Given the description of an element on the screen output the (x, y) to click on. 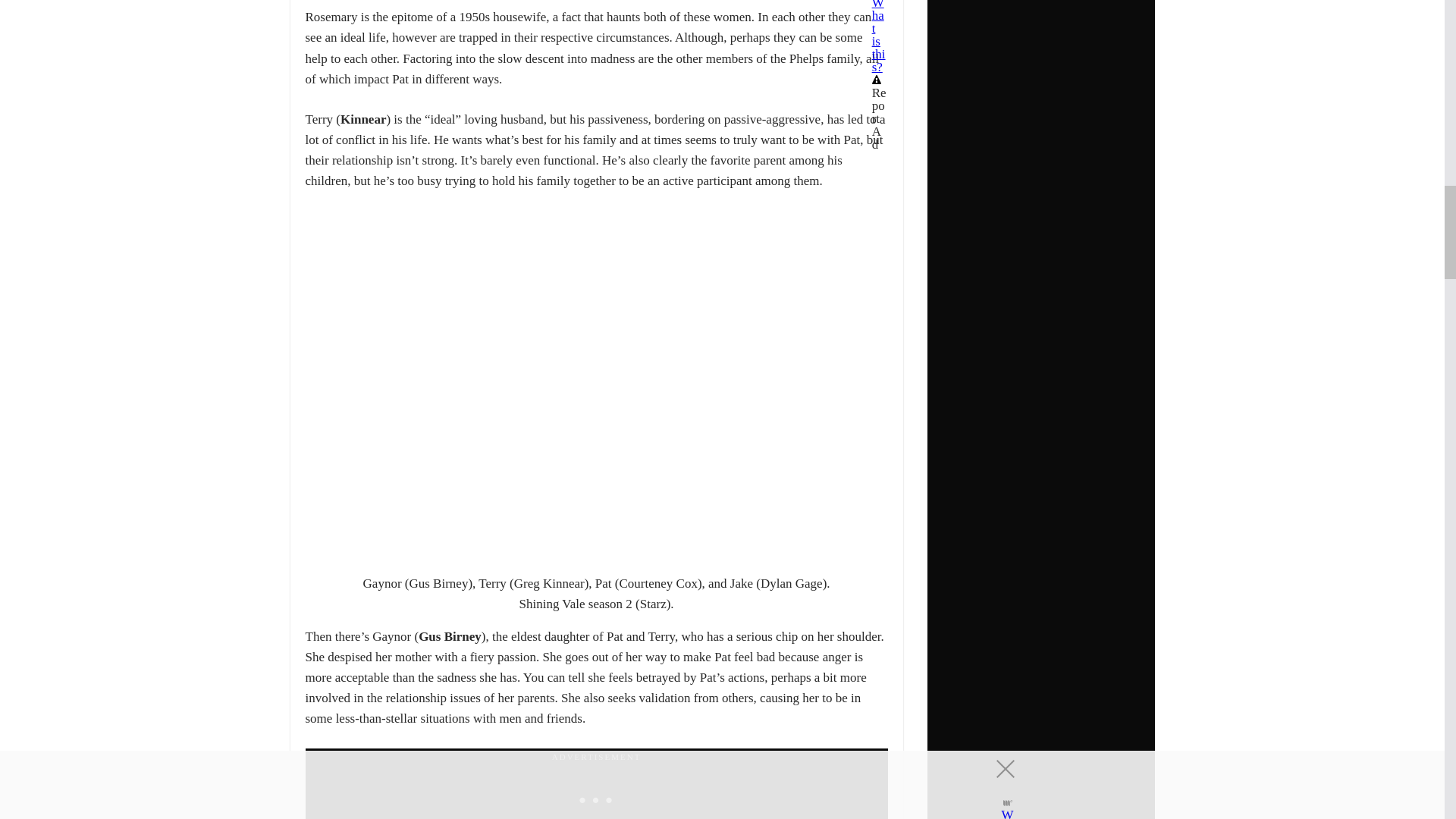
3rd party ad content (596, 792)
